Given the description of an element on the screen output the (x, y) to click on. 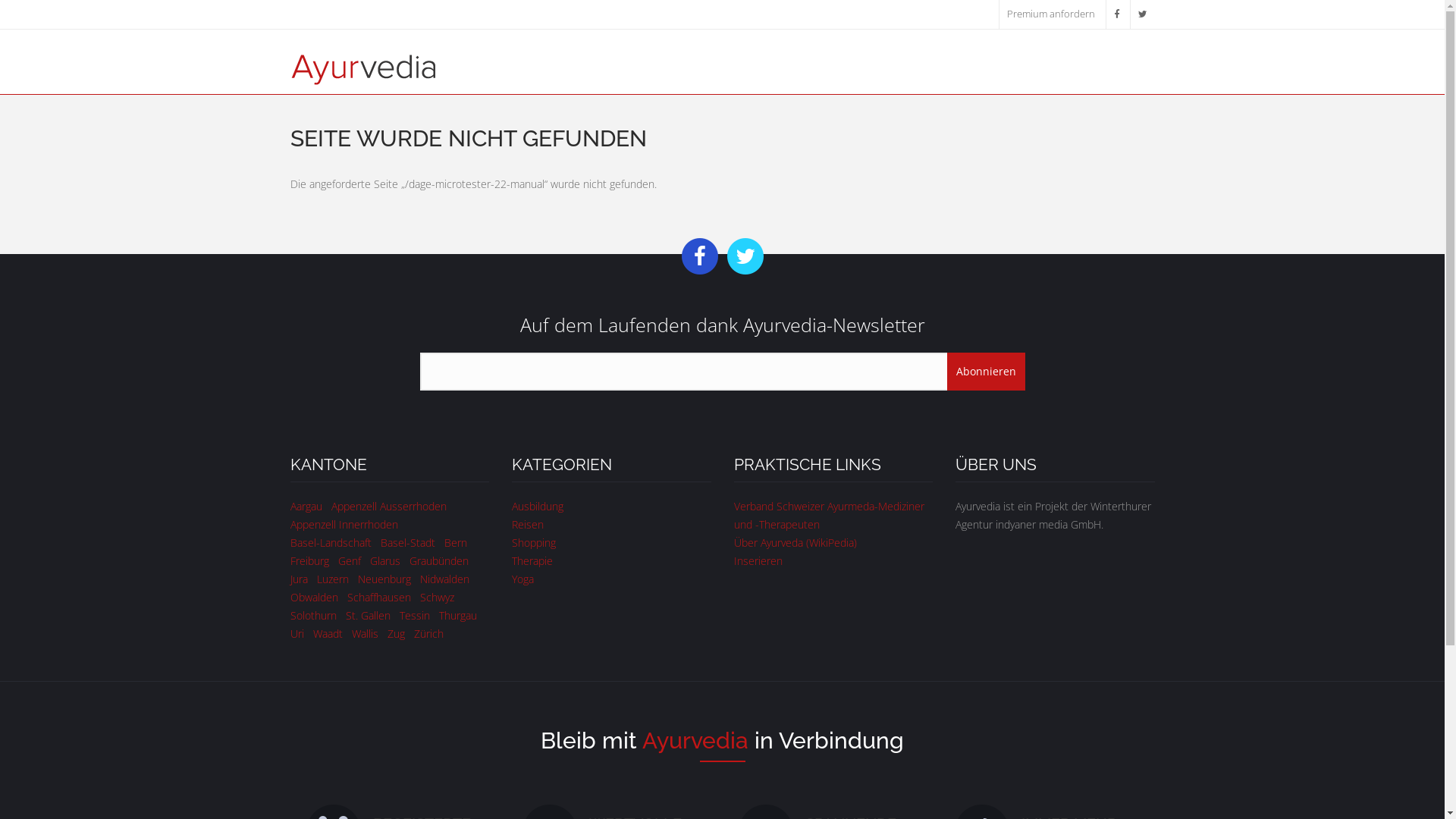
Glarus Element type: text (385, 560)
Verband Schweizer Ayurmeda-Mediziner und -Therapeuten Element type: text (829, 514)
Schaffhausen Element type: text (379, 596)
Basel-Stadt Element type: text (407, 542)
Direkt zum Inhalt Element type: text (40, 0)
Wallis Element type: text (364, 633)
Genf Element type: text (349, 560)
Reisen Element type: text (527, 524)
Obwalden Element type: text (313, 596)
Luzern Element type: text (332, 578)
Zug Element type: text (395, 633)
Appenzell Innerrhoden Element type: text (343, 524)
Ausbildung Element type: text (537, 505)
Neuenburg Element type: text (384, 578)
Bern Element type: text (455, 542)
Appenzell Ausserrhoden Element type: text (387, 505)
Facebook Element type: hover (1115, 13)
twitter Element type: hover (1141, 13)
Yoga Element type: text (522, 578)
Schwyz Element type: text (437, 596)
Startseite Element type: hover (362, 67)
Waadt Element type: text (327, 633)
Inserieren Element type: text (758, 560)
Uri Element type: text (296, 633)
St. Gallen Element type: text (367, 615)
Tessin Element type: text (413, 615)
Thurgau Element type: text (457, 615)
Jura Element type: text (298, 578)
Therapie Element type: text (531, 560)
Nidwalden Element type: text (444, 578)
Basel-Landschaft Element type: text (329, 542)
Shopping Element type: text (533, 542)
Premium anfordern Element type: text (1051, 13)
Solothurn Element type: text (312, 615)
Aargau Element type: text (305, 505)
Abonnieren Element type: text (985, 371)
Freiburg Element type: text (308, 560)
